Given the description of an element on the screen output the (x, y) to click on. 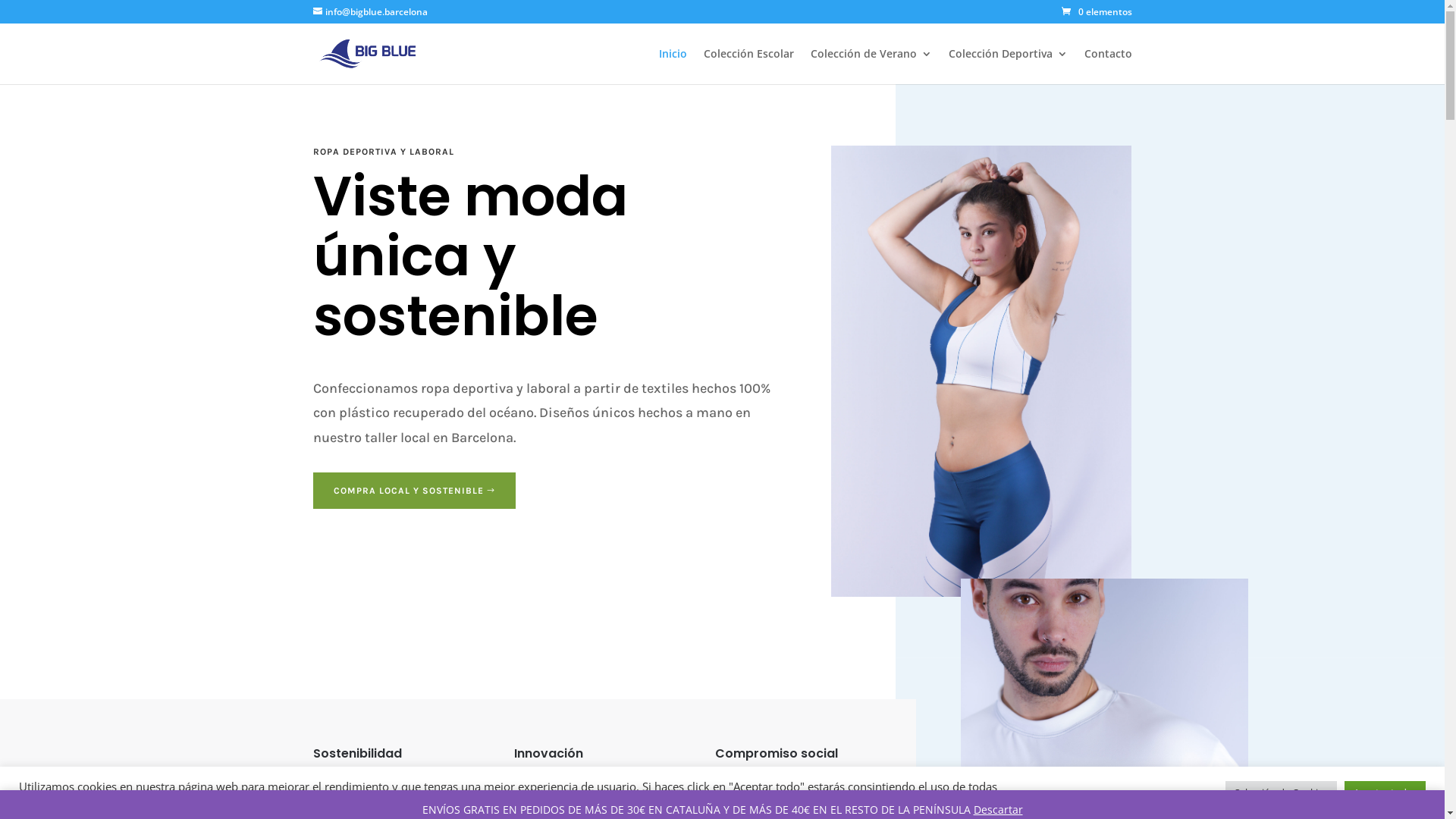
Contacto Element type: text (1108, 66)
COMPRA LOCAL Y SOSTENIBLE Element type: text (413, 490)
Inicio Element type: text (672, 66)
0 elementos Element type: text (1096, 11)
info@bigblue.barcelona Element type: text (369, 11)
big blue ropa deporte Element type: hover (981, 370)
Descartar Element type: text (997, 809)
Aceptar todas Element type: text (1384, 792)
